Given the description of an element on the screen output the (x, y) to click on. 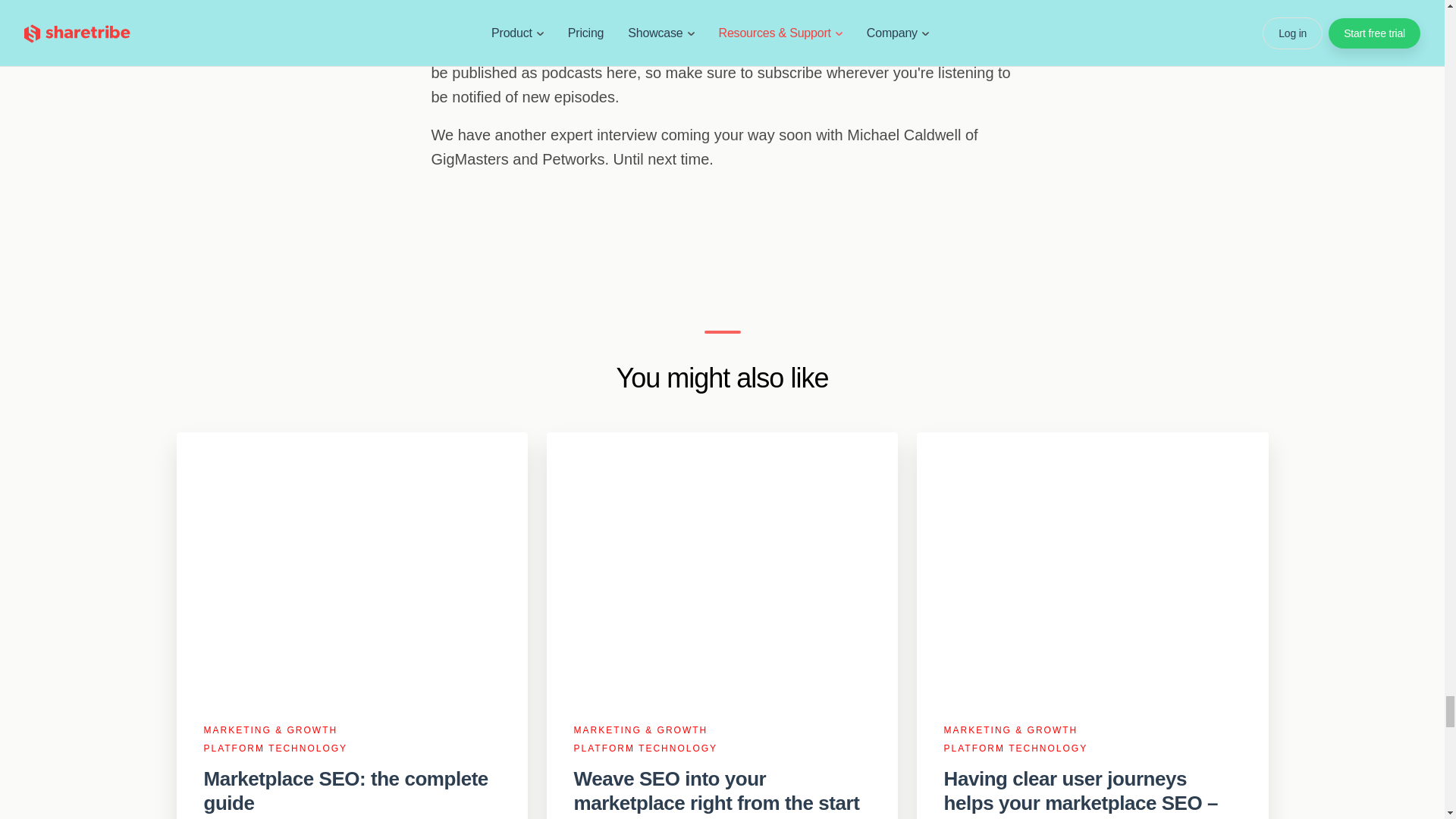
Marketplace SEO: the complete guide (351, 790)
